Given the description of an element on the screen output the (x, y) to click on. 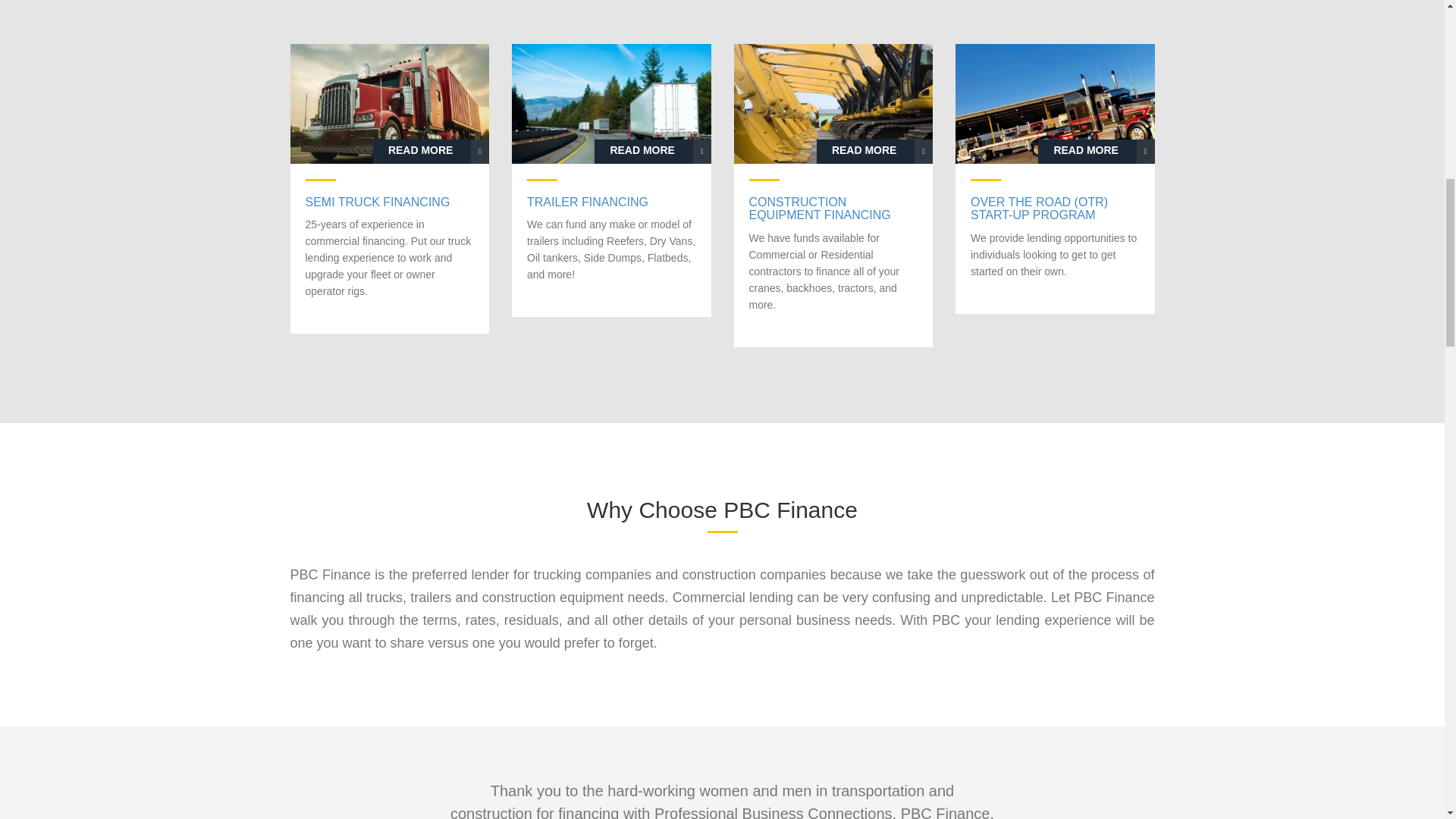
CONSTRUCTION EQUIPMENT FINANCING (833, 208)
TRAILER FINANCING (611, 202)
READ MORE (430, 151)
READ MORE (874, 151)
READ MORE (652, 151)
READ MORE (1096, 151)
SEMI TRUCK FINANCING (389, 202)
